Given the description of an element on the screen output the (x, y) to click on. 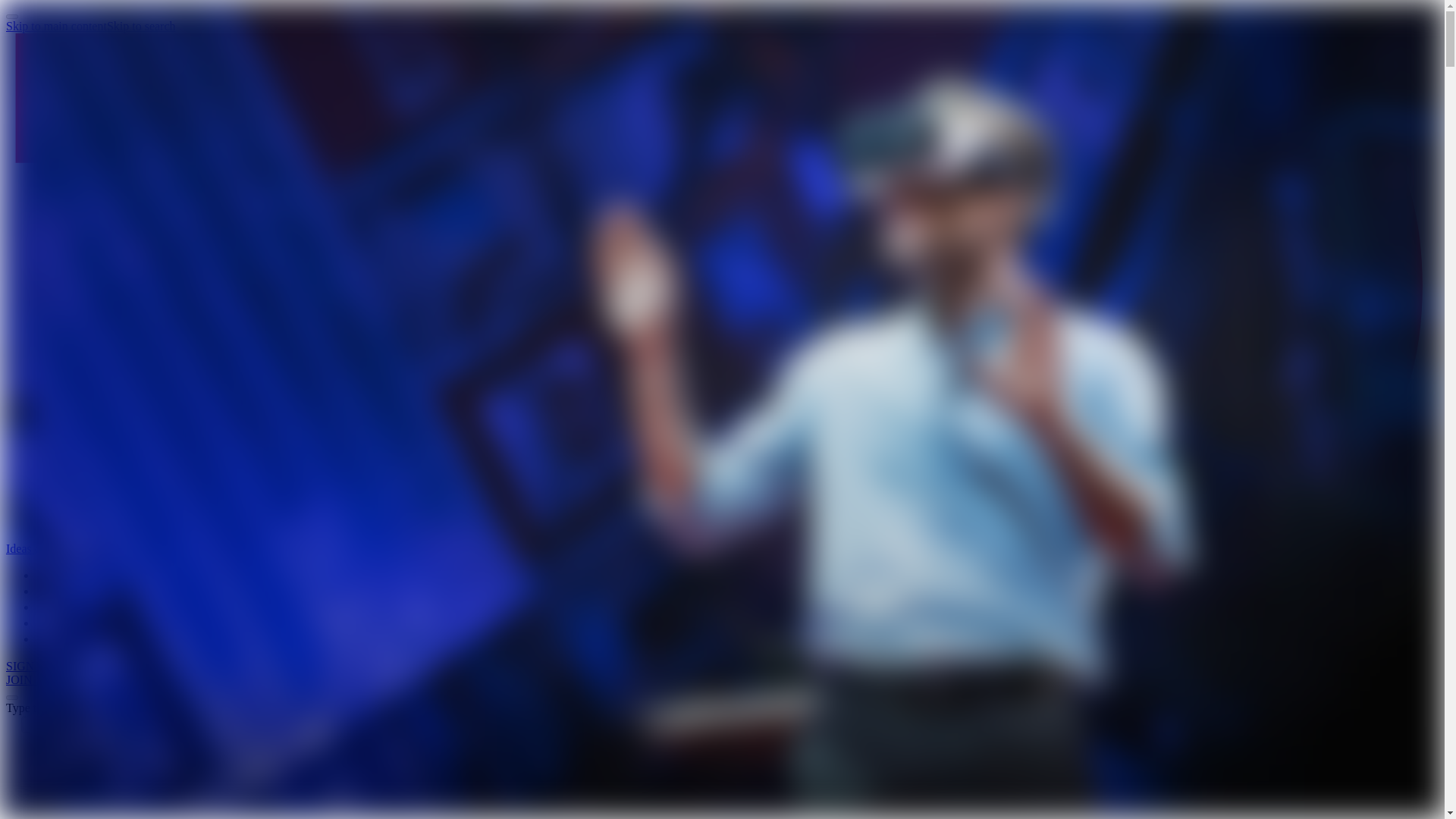
PARTICIPATE (74, 623)
Skip to main content (55, 25)
Skip to search (141, 25)
DISCOVER (68, 591)
ATTEND (61, 607)
WATCH (60, 575)
ABOUT (59, 639)
